Given the description of an element on the screen output the (x, y) to click on. 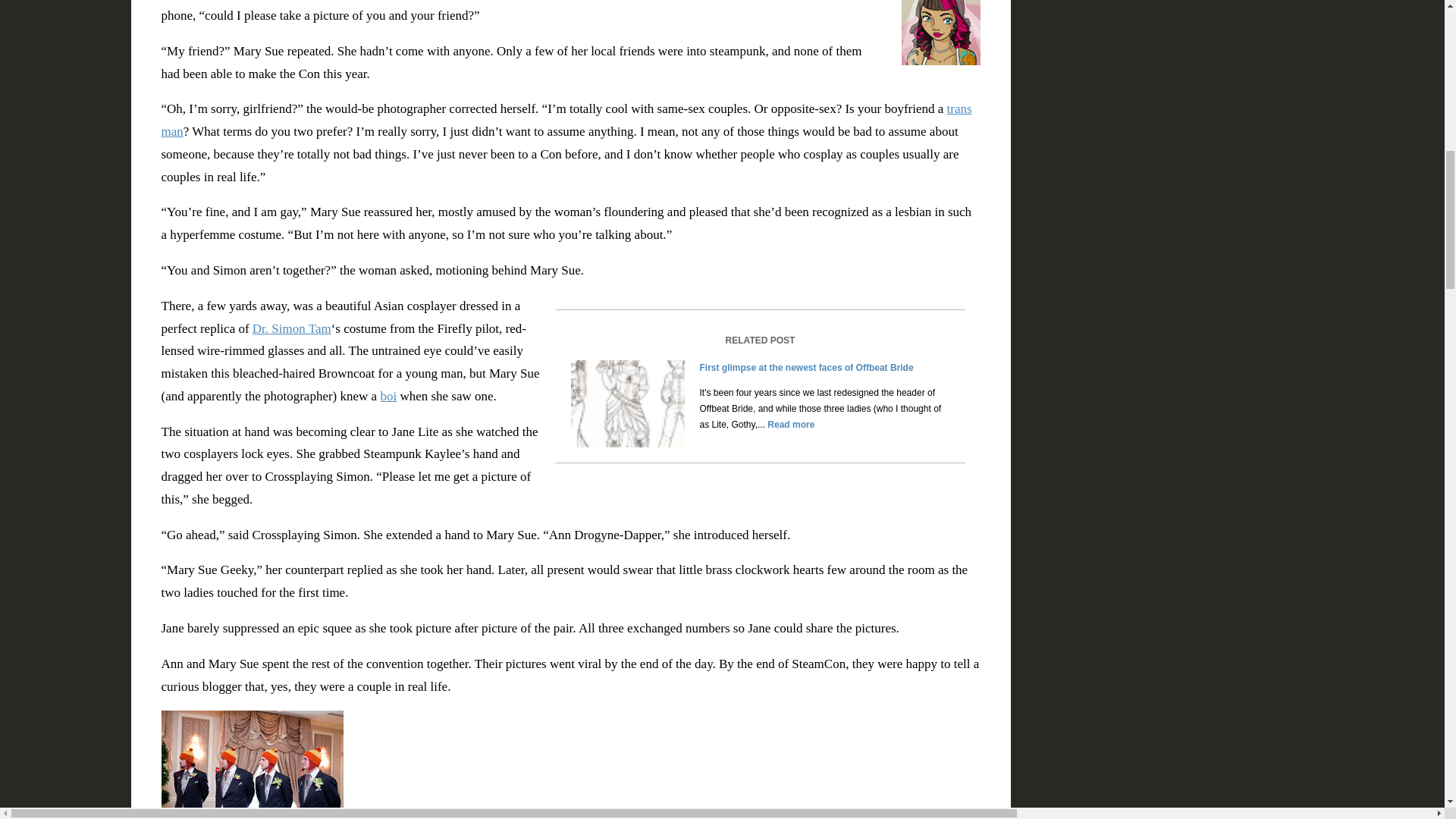
Dr. Simon Tam (291, 328)
trans man (565, 119)
Read more (790, 424)
boi (388, 396)
First glimpse at the newest faces of Offbeat Bride (805, 367)
